Given the description of an element on the screen output the (x, y) to click on. 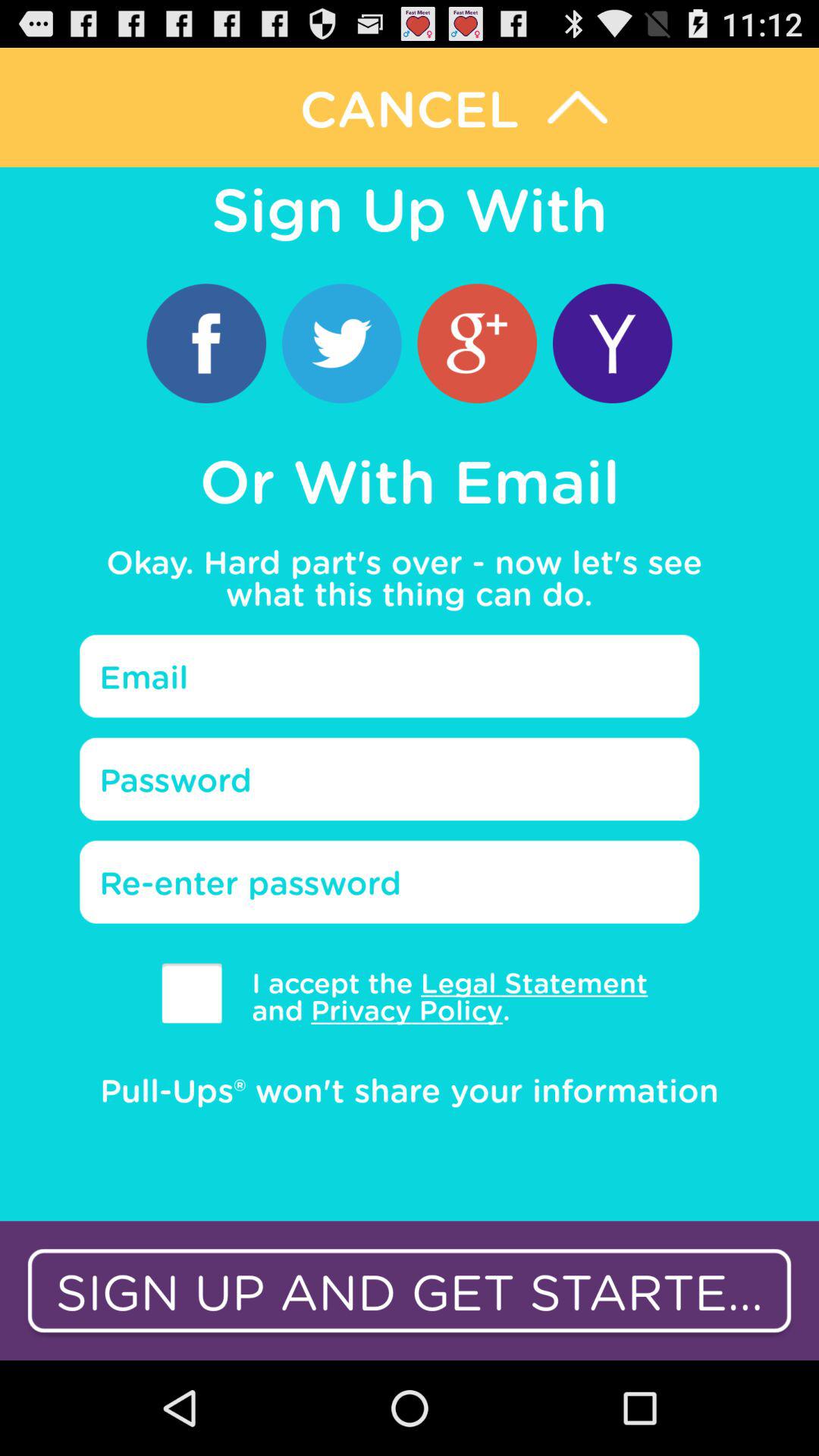
click the app above the pull ups won item (191, 993)
